Given the description of an element on the screen output the (x, y) to click on. 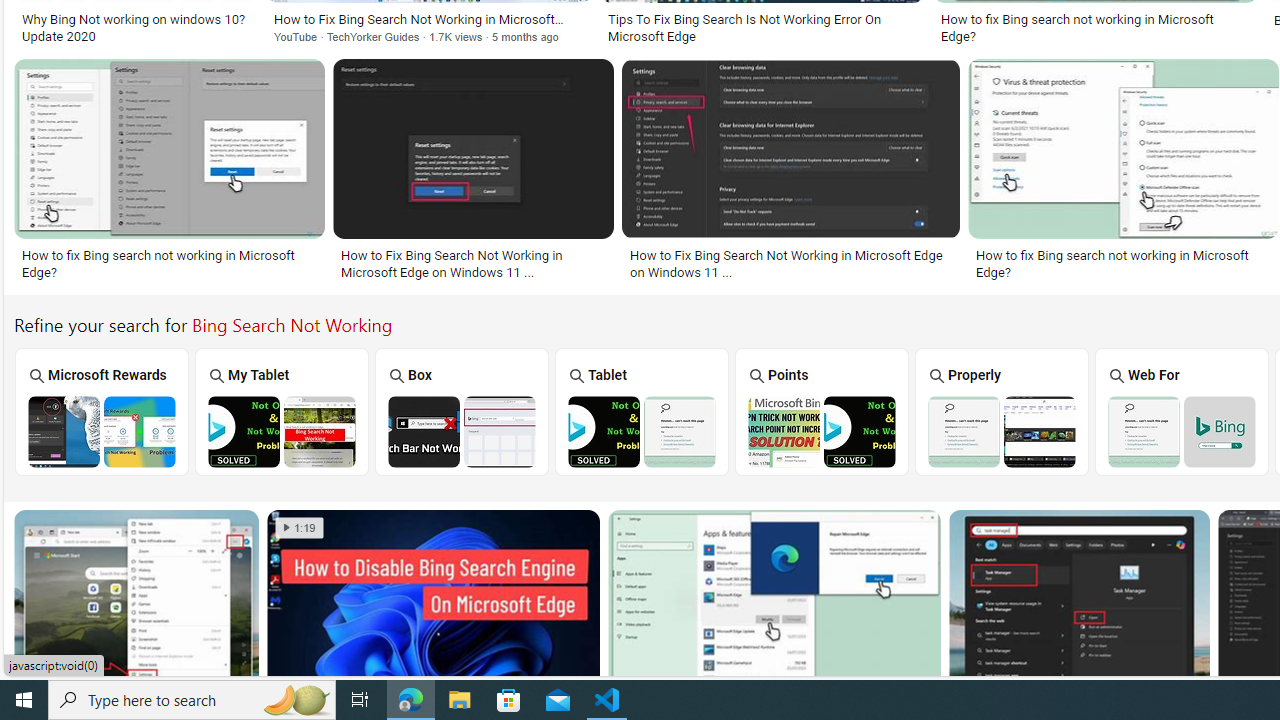
How to fix Bing search not working in Microsoft Edge?Save (173, 173)
Bing Tablet Search Not Working Tablet (641, 411)
1:19 (299, 528)
Why Bing Not working on windows 10? Update 2020 (135, 27)
Box (461, 411)
Properly (1002, 411)
Image result for Bing Search Not Working (1078, 602)
Bing Search Box Not Working Box (461, 411)
Bing Search the Web for Image Not Working Web For (1181, 411)
My Tablet (281, 411)
